Given the description of an element on the screen output the (x, y) to click on. 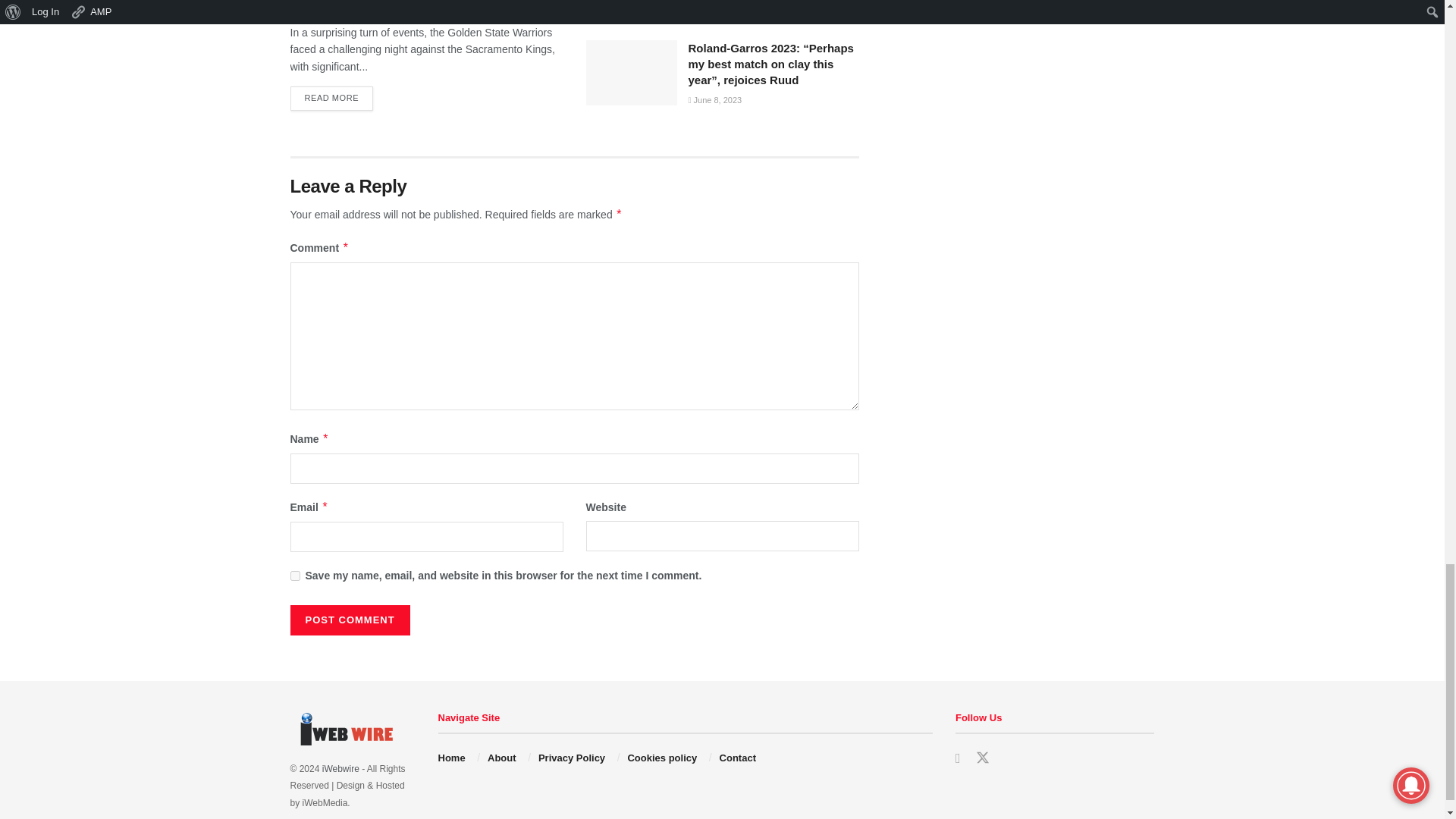
Post Comment (349, 620)
yes (294, 575)
iwebwire (340, 768)
